Given the description of an element on the screen output the (x, y) to click on. 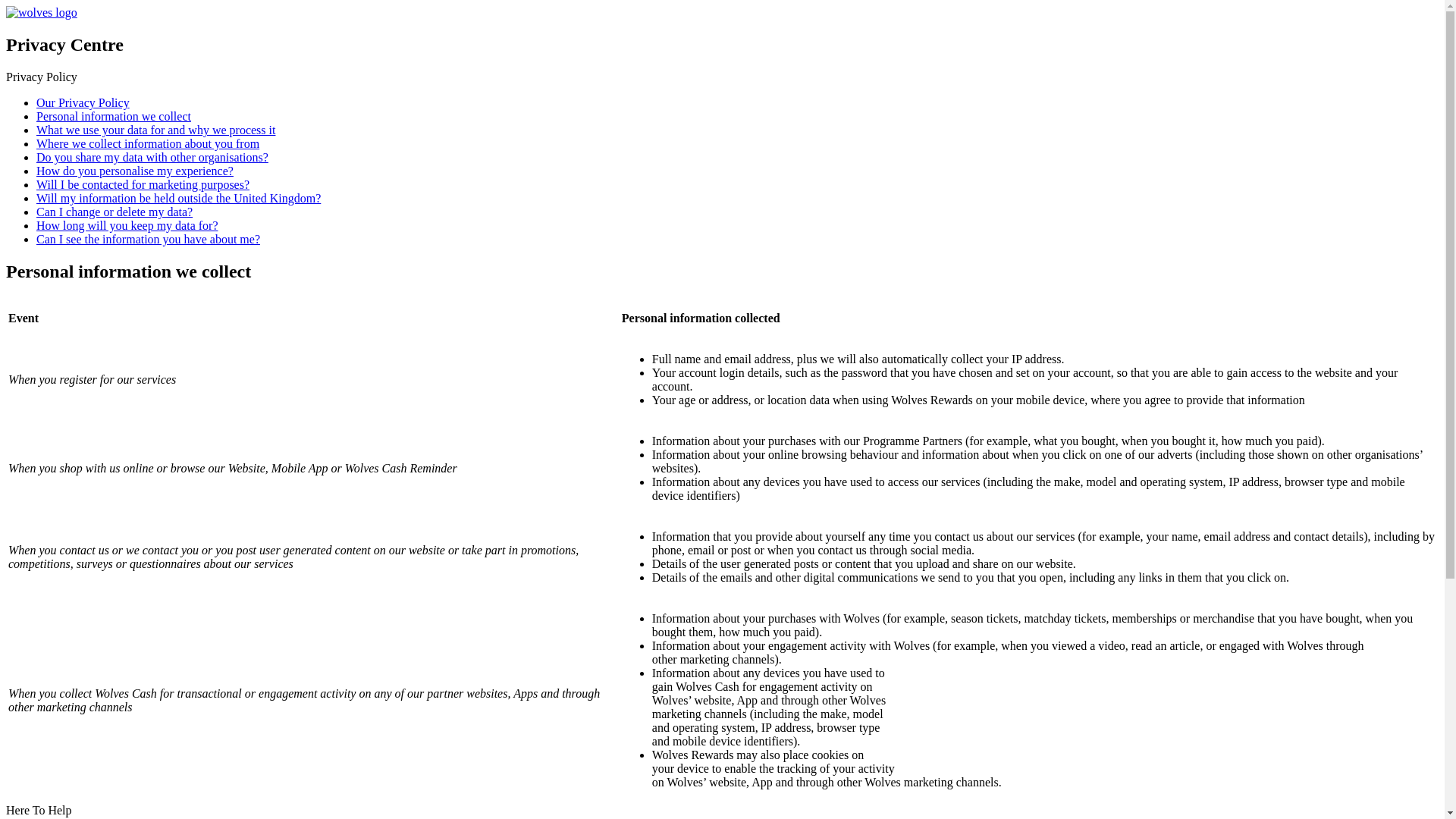
How long will you keep my data for? (127, 225)
Where we collect information about you from (147, 143)
Can I change or delete my data? (114, 211)
FAQs (108, 818)
What we use your data for and why we process it (155, 129)
Will I be contacted for marketing purposes? (142, 184)
Will my information be held outside the United Kingdom? (178, 197)
Member Services (49, 818)
Personal information we collect (113, 115)
Our Privacy Policy (82, 102)
